Given the description of an element on the screen output the (x, y) to click on. 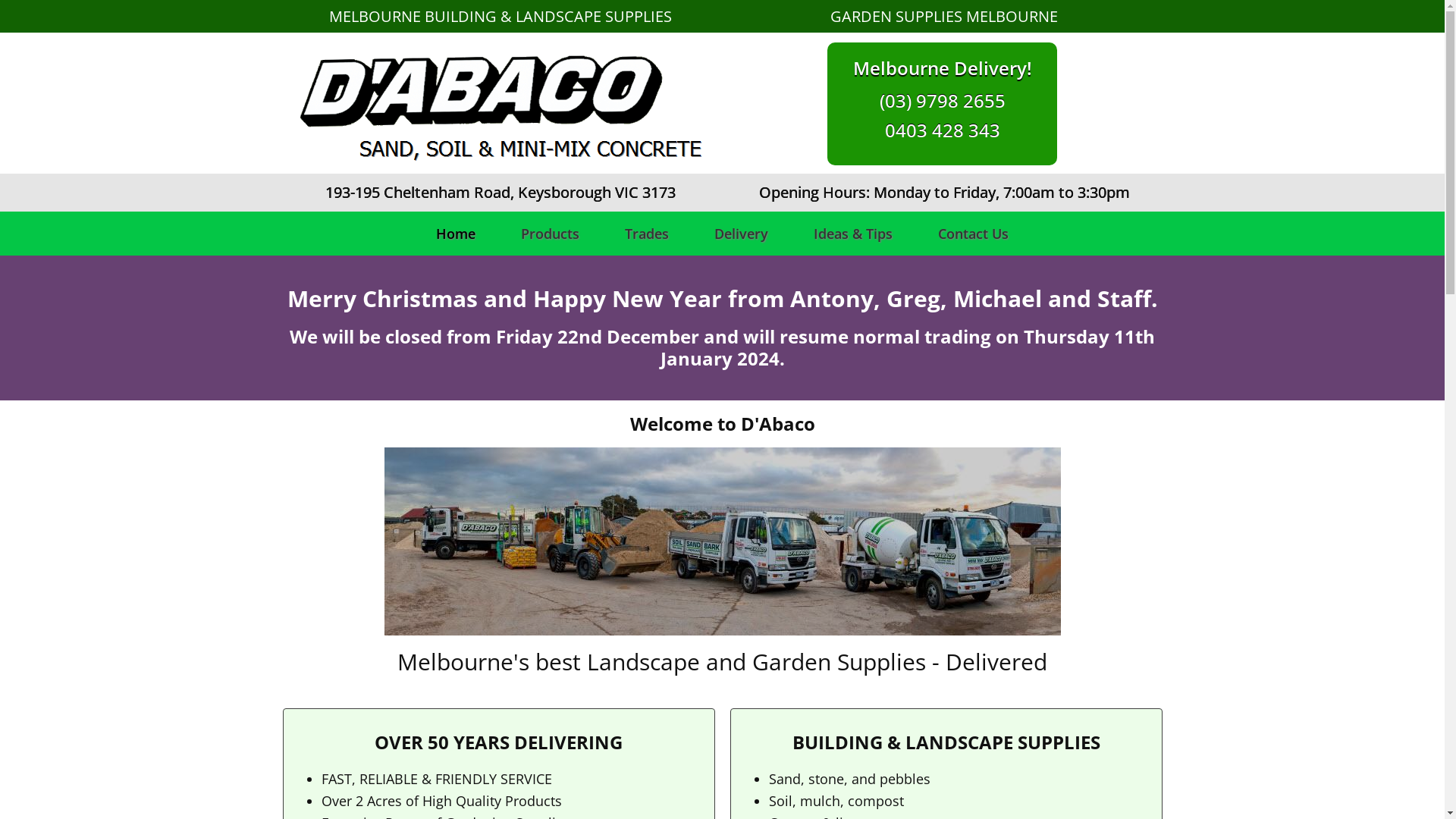
Delivery Element type: text (741, 233)
Contact Us Element type: text (972, 233)
Trades Element type: text (646, 233)
dabaco-garden-supply-yard-panorama image Element type: hover (721, 541)
Ideas & Tips Element type: text (852, 233)
header image Element type: hover (497, 102)
Products Element type: text (549, 233)
Home Element type: text (455, 233)
